Given the description of an element on the screen output the (x, y) to click on. 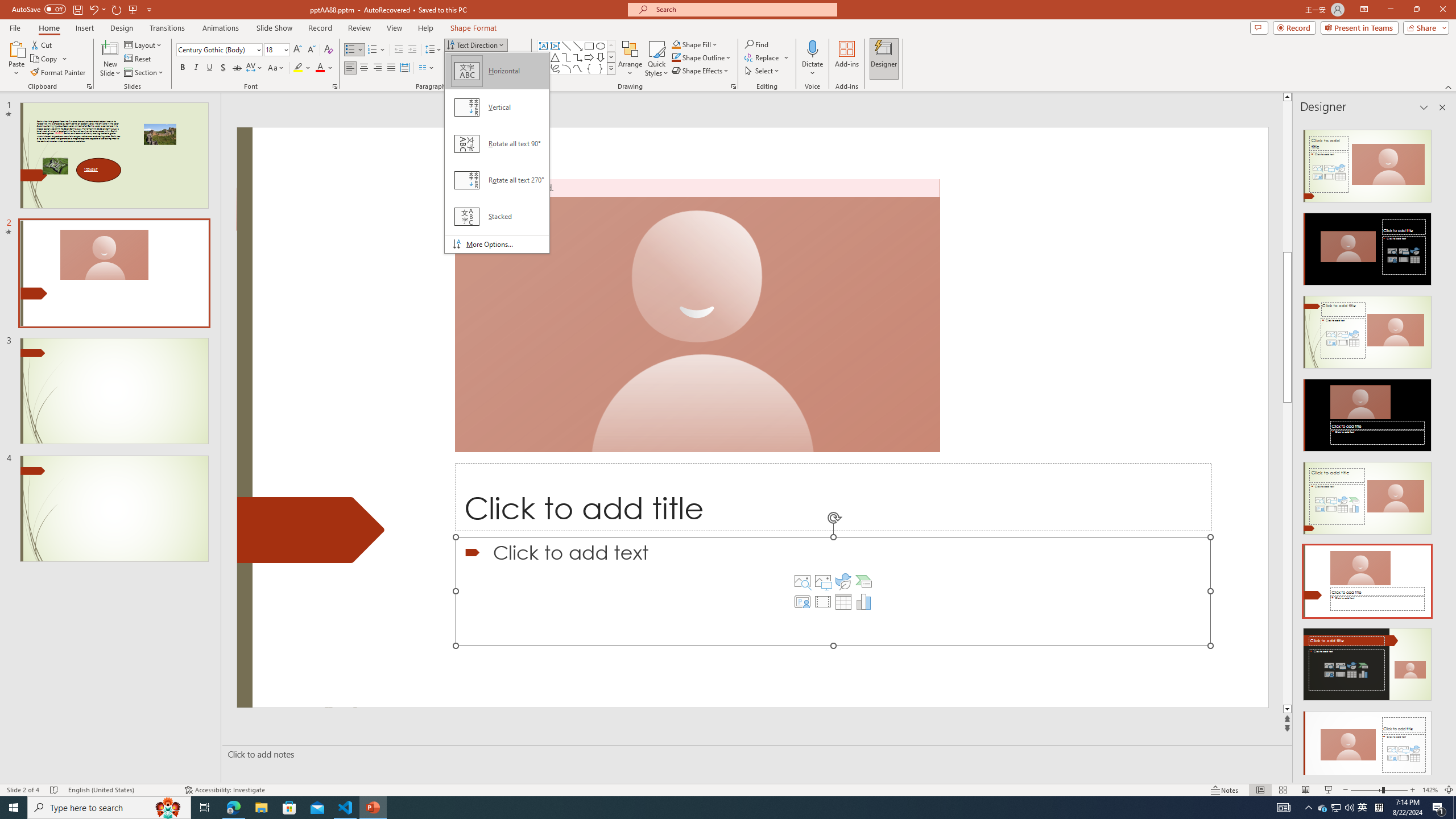
Decorative Locked (310, 530)
